Given the description of an element on the screen output the (x, y) to click on. 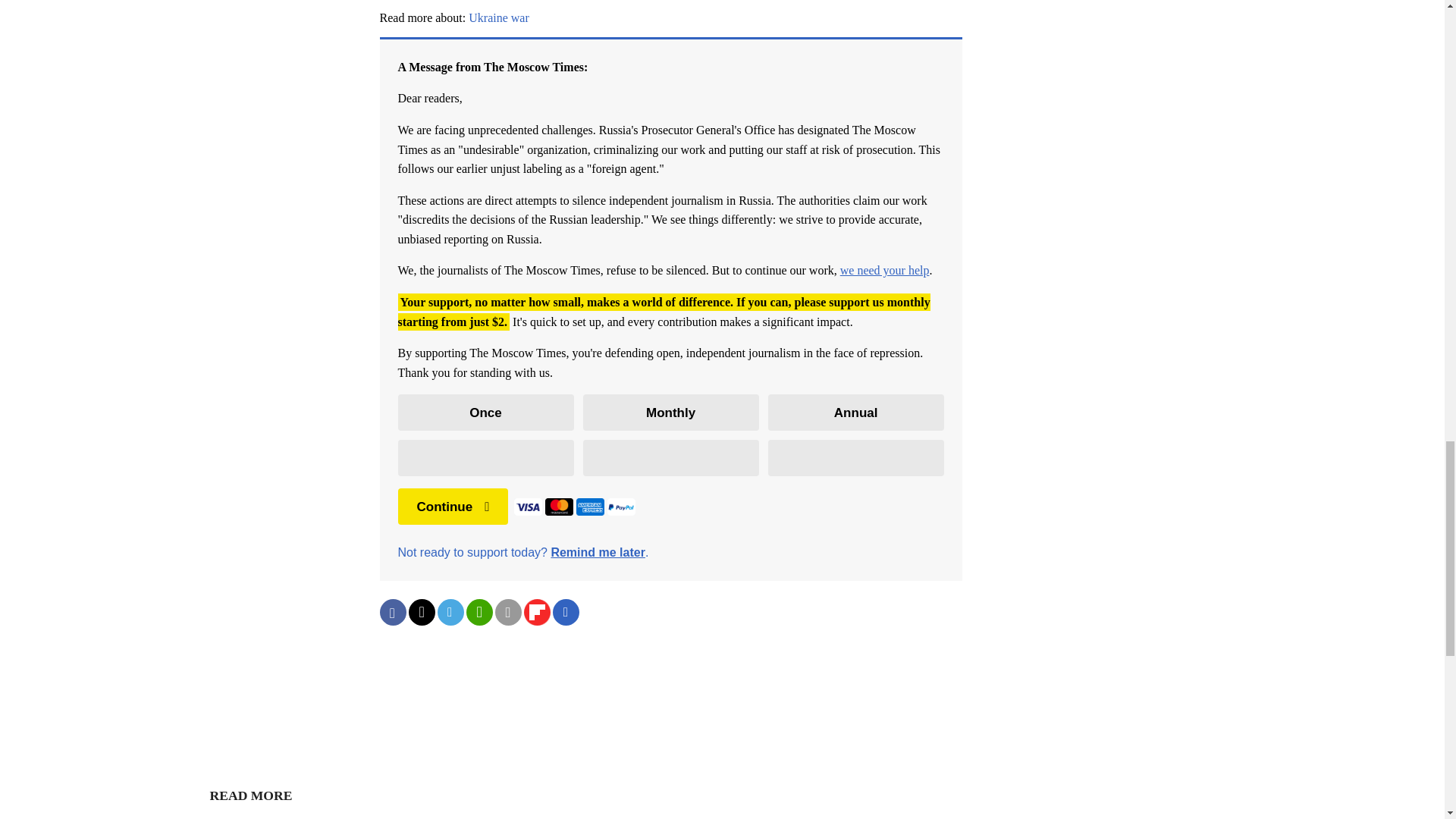
Share on Telegram (449, 611)
Share on Twitter (420, 611)
Share on Flipboard (536, 611)
we need your help (885, 269)
Share on Facebook (392, 611)
Ukraine war (498, 17)
